Given the description of an element on the screen output the (x, y) to click on. 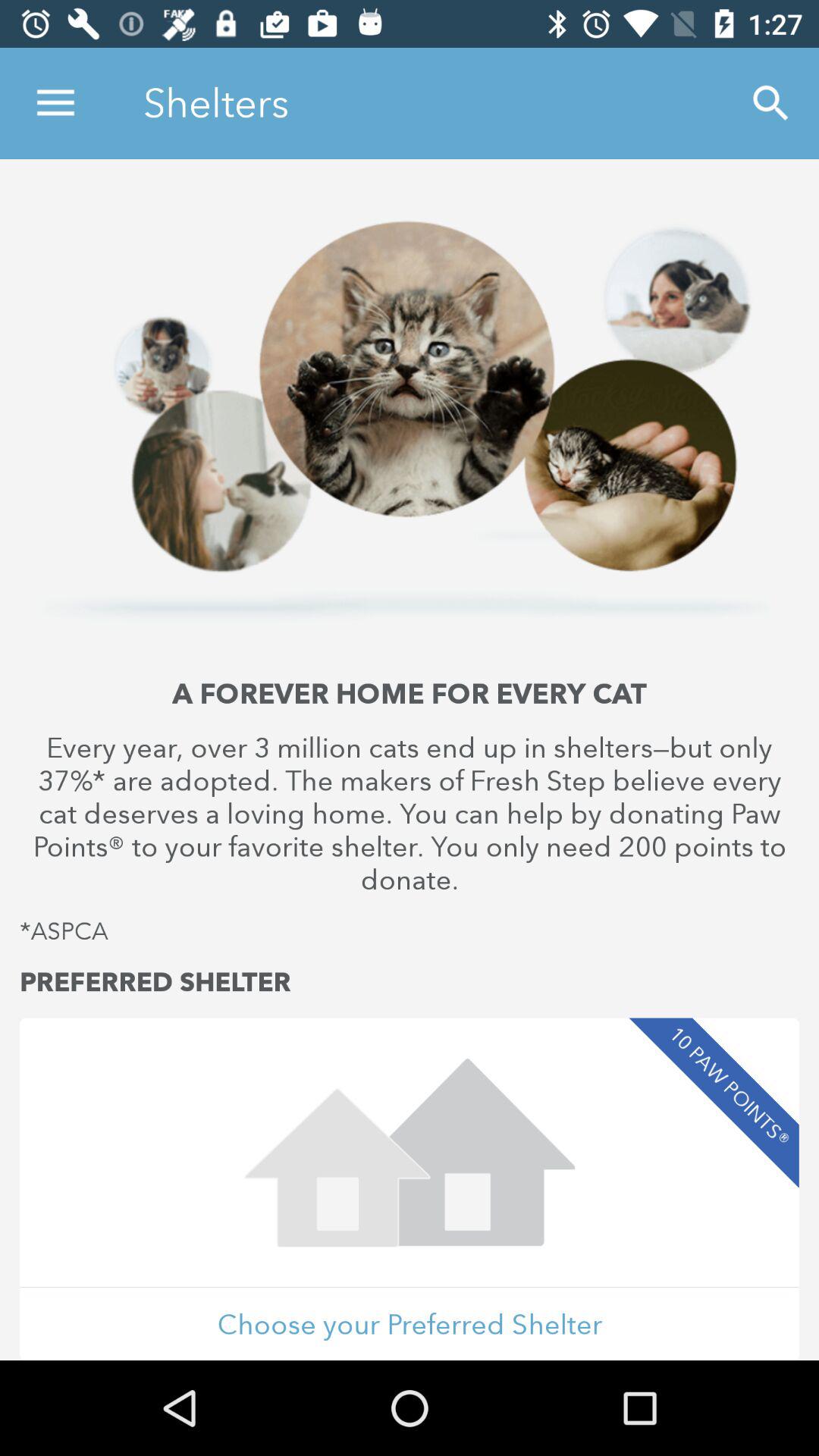
click the icon to the left of the shelters icon (55, 103)
